Given the description of an element on the screen output the (x, y) to click on. 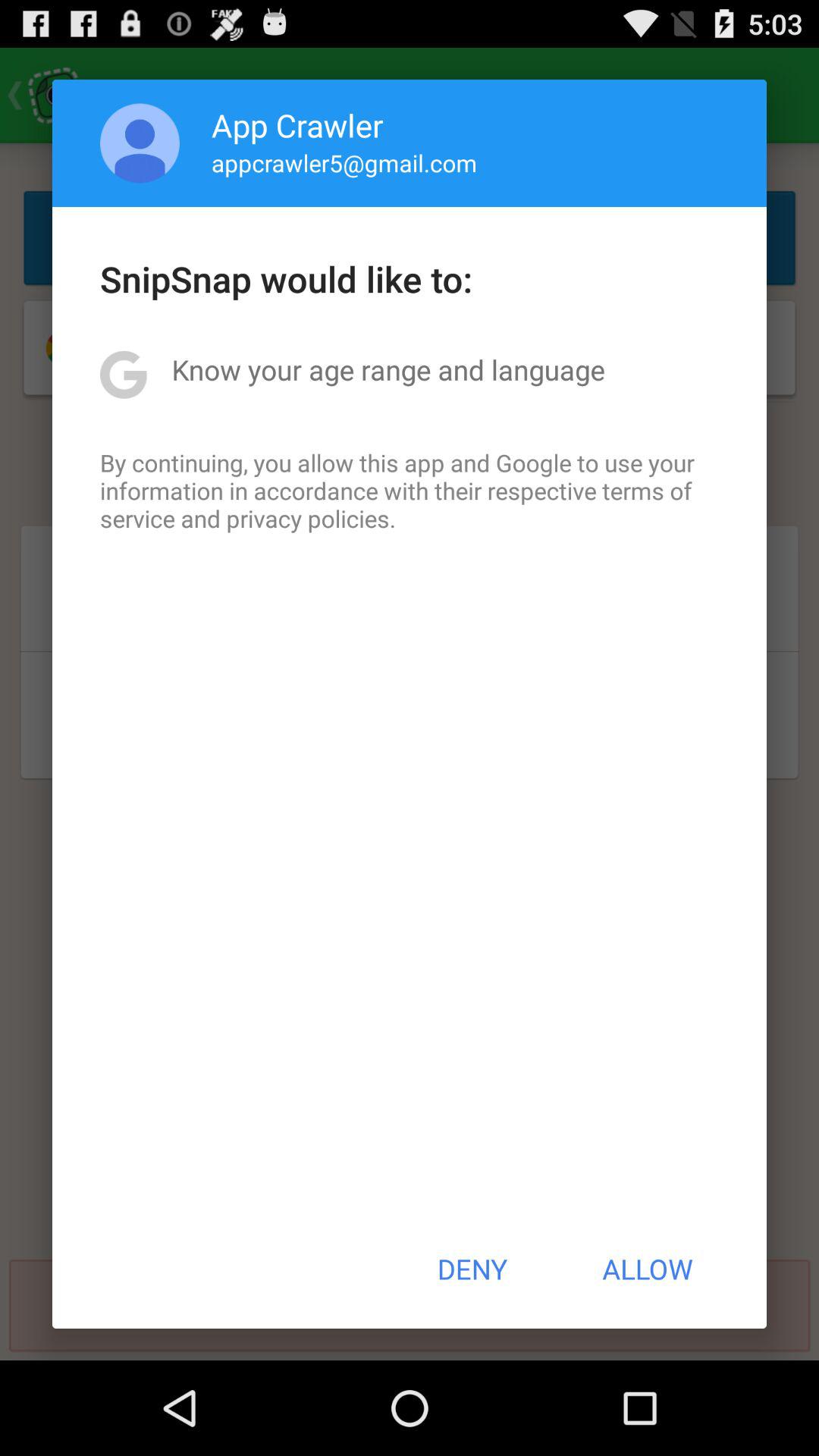
flip to app crawler icon (297, 124)
